Given the description of an element on the screen output the (x, y) to click on. 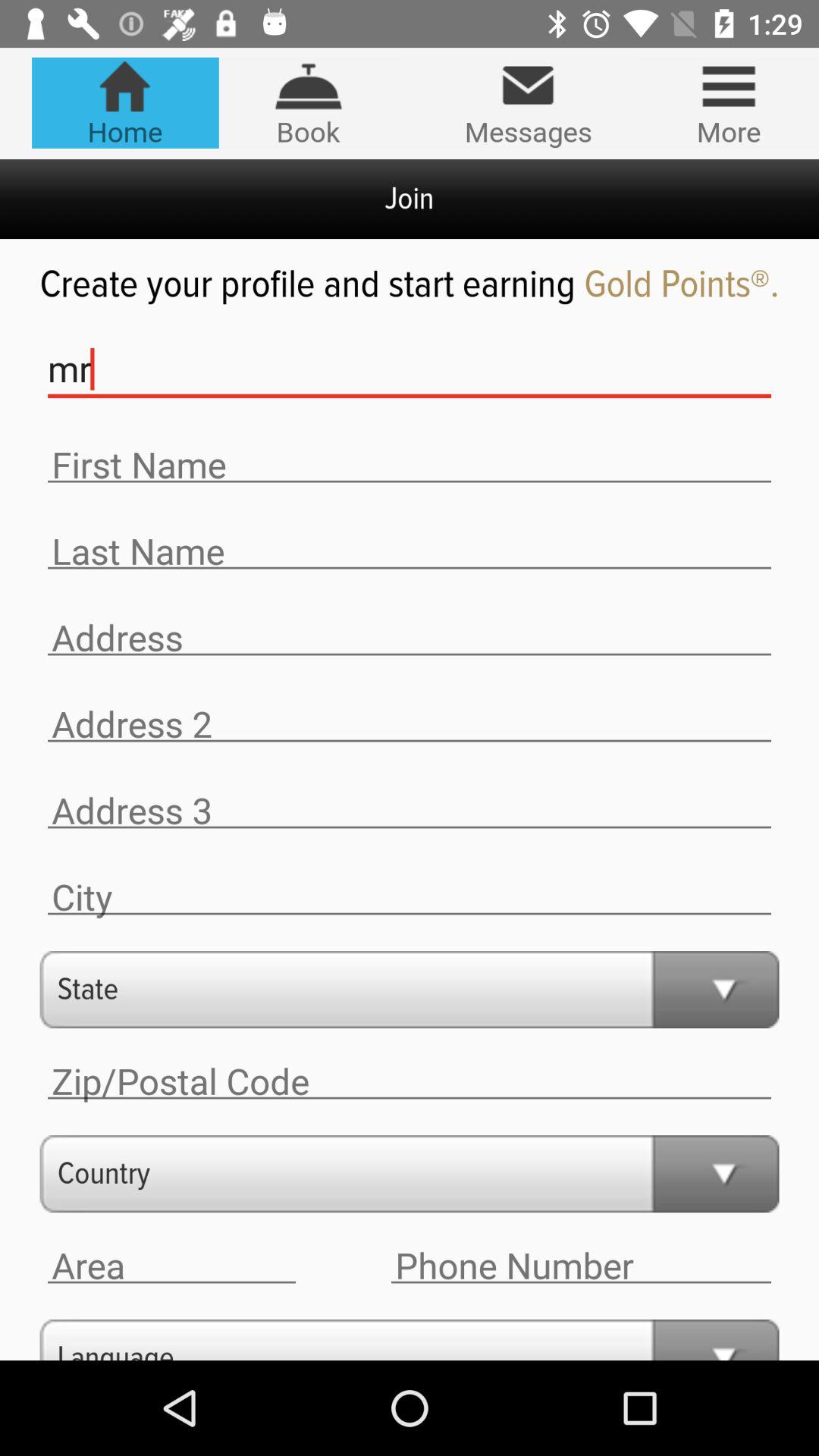
input box for city (409, 897)
